Given the description of an element on the screen output the (x, y) to click on. 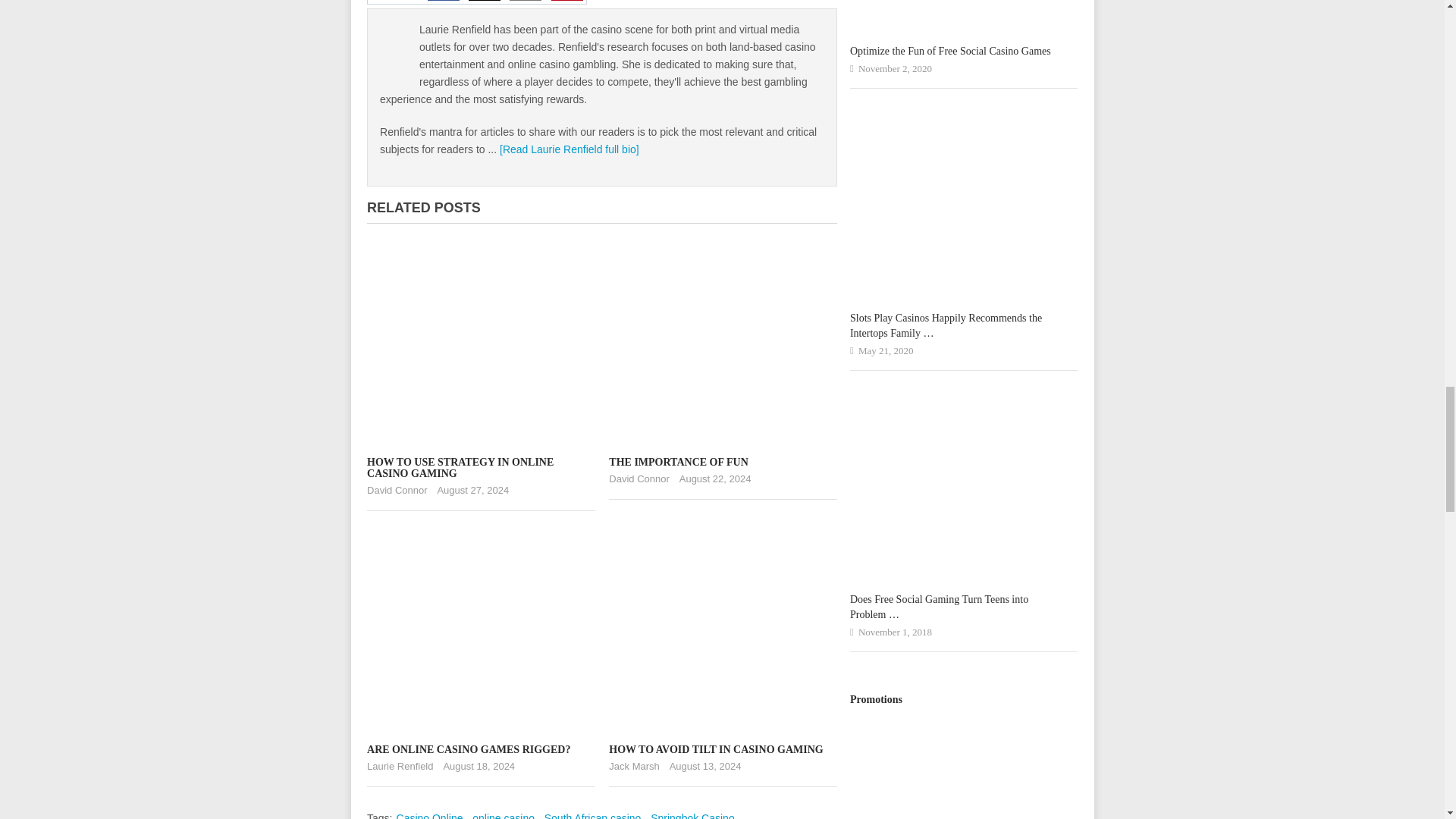
Posts by David Connor (638, 478)
How to Use Strategy in Online Casino Gaming (459, 467)
The Importance of Fun (678, 461)
Posts by Laurie Renfield (399, 766)
Posts by David Connor (397, 490)
How to Avoid Tilt in Casino Gaming (715, 749)
Are Online Casino Games Rigged? (468, 749)
Posts by Jack Marsh (633, 766)
